Given the description of an element on the screen output the (x, y) to click on. 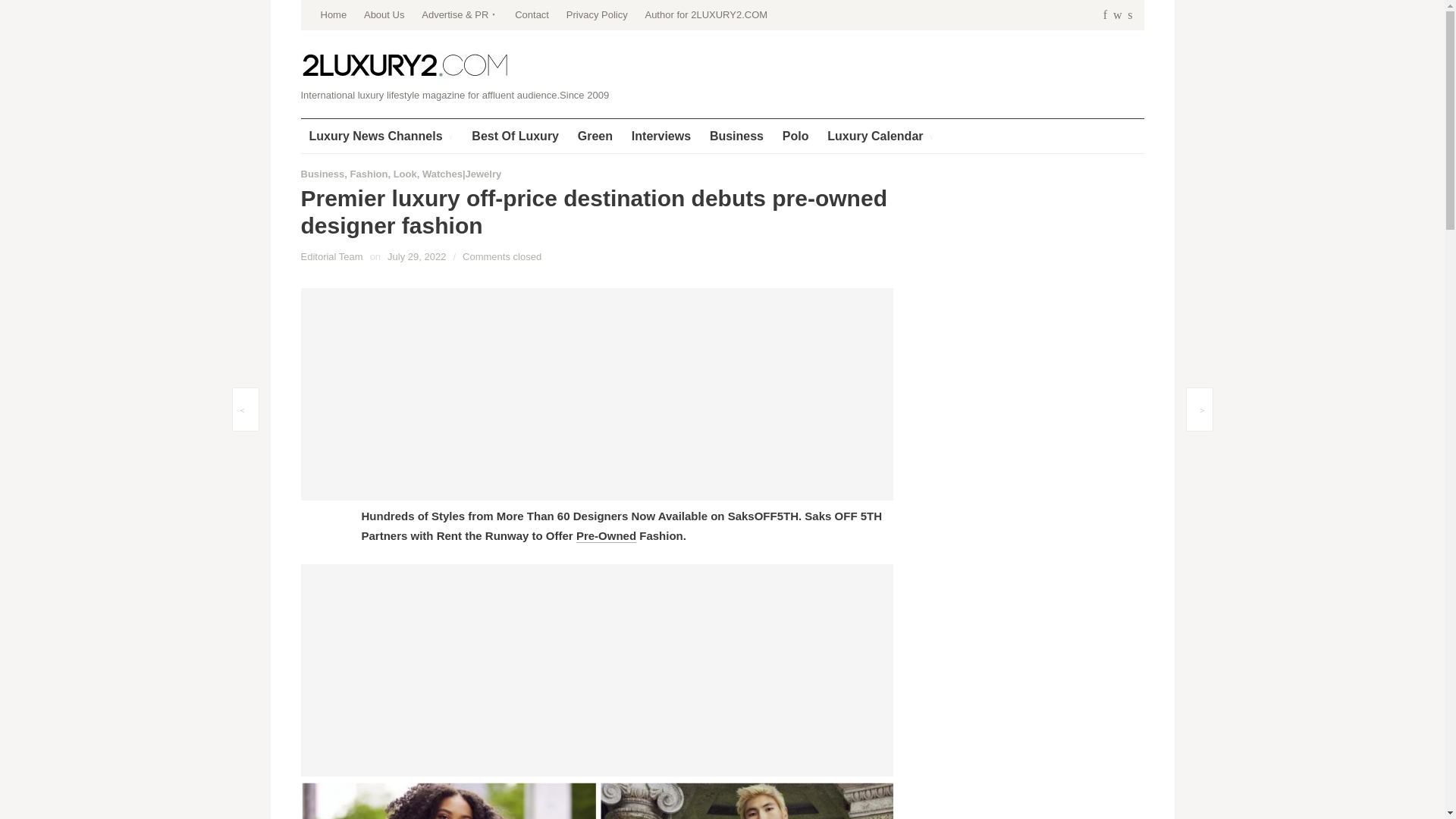
business of luxury (736, 135)
Luxury Events Calendar (880, 135)
Best of luxury (515, 135)
luxury interviews (660, 135)
Contact (531, 15)
Skip to content (336, 4)
Best Of Luxury (515, 135)
Green luxury (595, 135)
Business (736, 135)
Luxury Advertising and PR (459, 15)
